Given the description of an element on the screen output the (x, y) to click on. 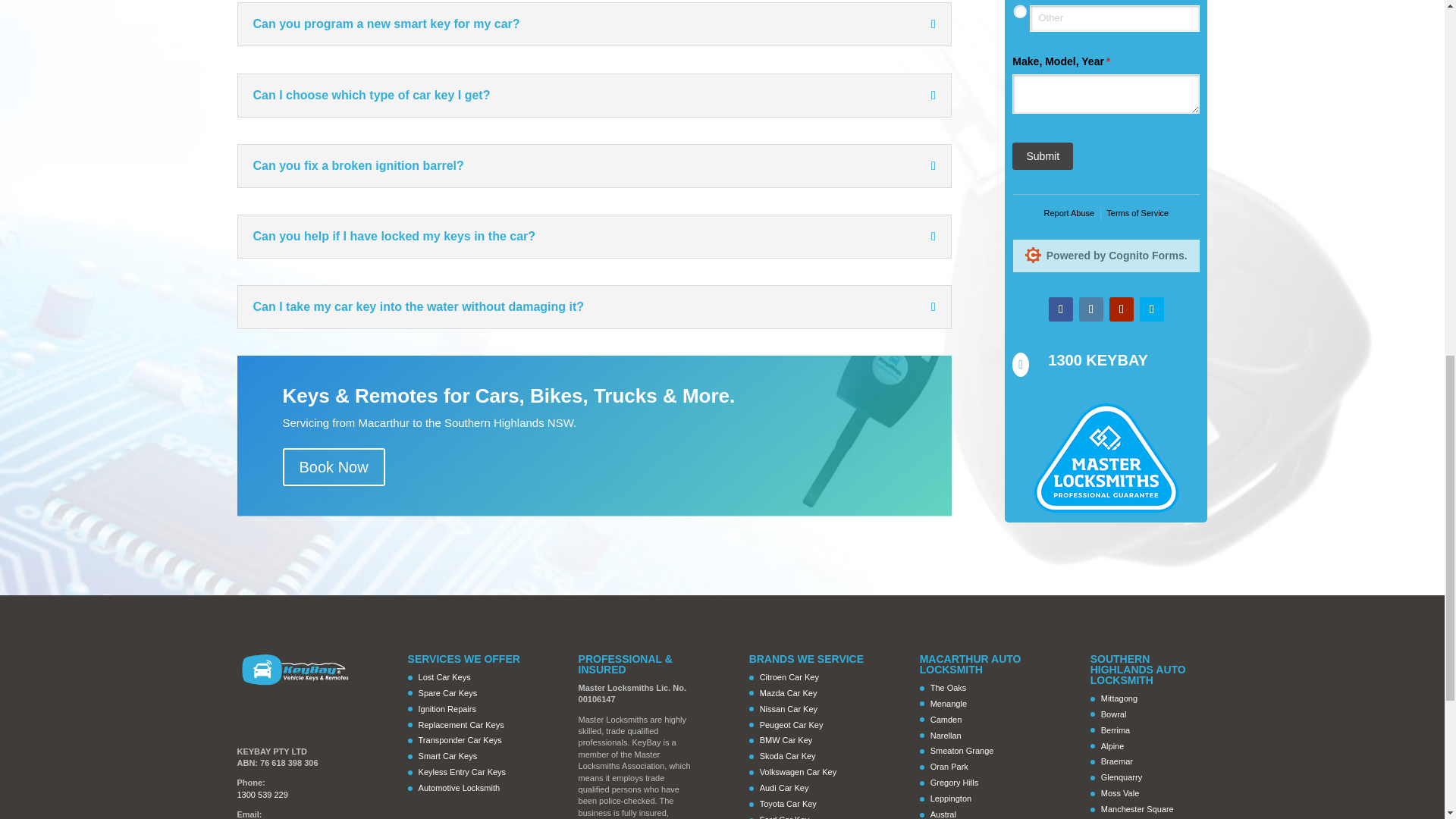
Follow on Twitter (1151, 309)
Powered by Cognito Forms. (1106, 254)
Terms of Service (1137, 214)
Report Abuse (1068, 214)
automotive locksmith (1106, 458)
Submit (1042, 155)
Follow on Instagram (1090, 309)
Follow on Youtube (1121, 309)
Book Now (333, 466)
Follow on Facebook (1060, 309)
